Given the description of an element on the screen output the (x, y) to click on. 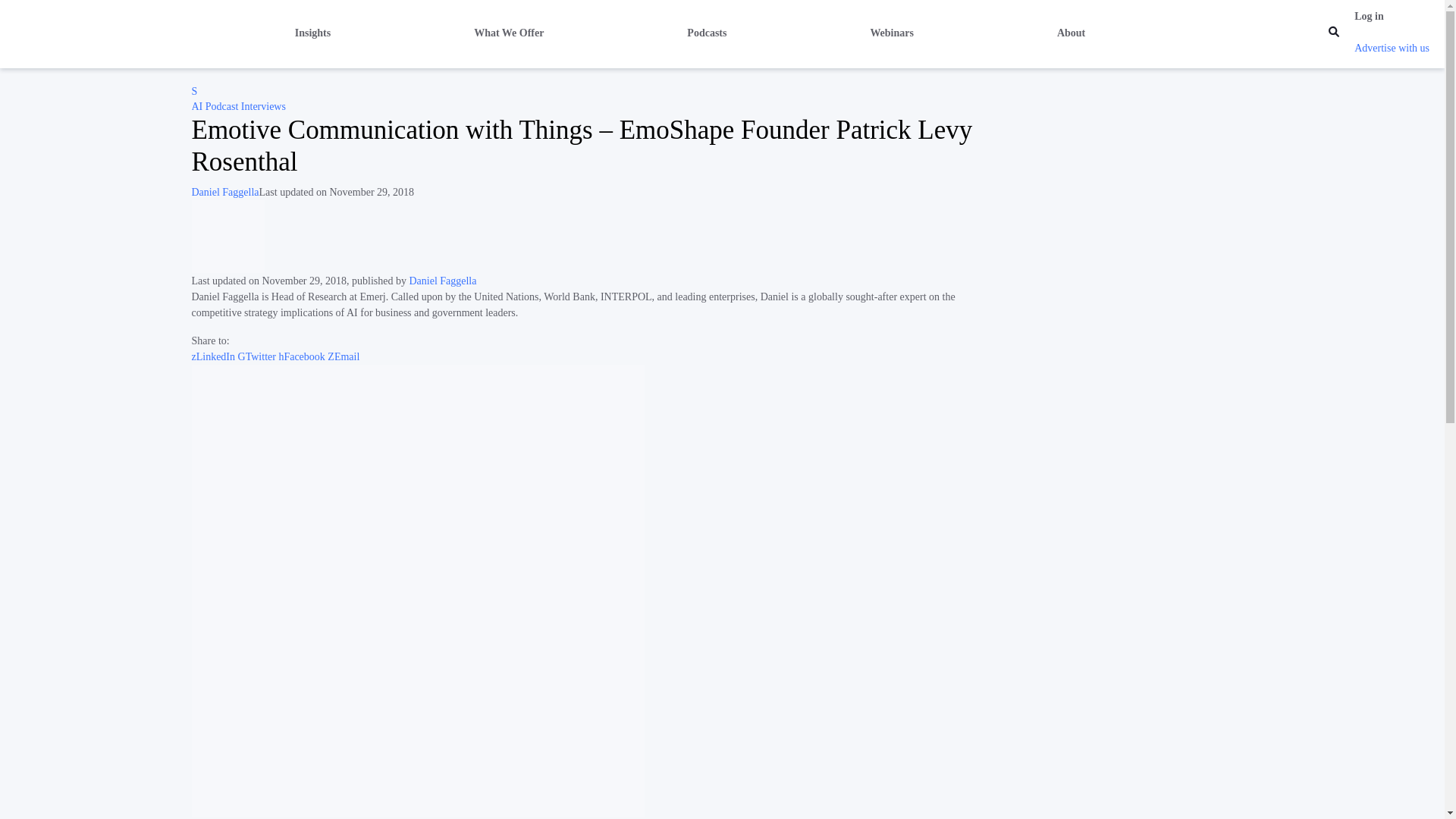
About (1070, 32)
Emerj Artificial Intelligence Research (193, 91)
Advertise with us (1391, 48)
Webinars (891, 32)
Insights (312, 32)
What We Offer (508, 32)
Emerj Artificial Intelligence Research (94, 33)
Podcasts (706, 32)
